Given the description of an element on the screen output the (x, y) to click on. 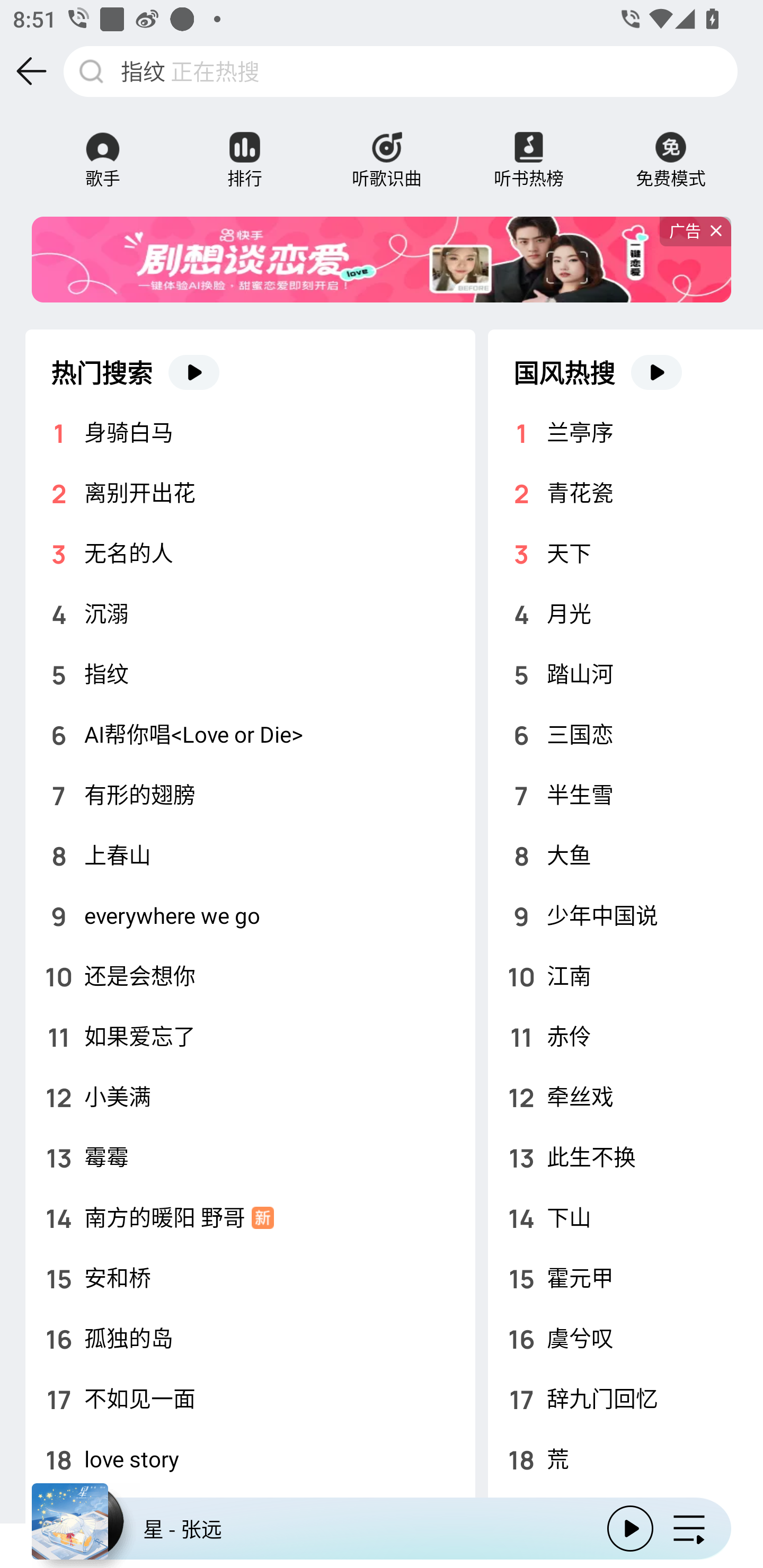
返回 (31, 71)
指纹 正在热搜 搜索音乐、视频、歌单、歌手、用户 (400, 71)
歌手 (102, 147)
排行 (244, 147)
听歌识曲 (386, 147)
听书热榜 (528, 147)
免费模式 (664, 147)
广告 (381, 259)
广告 关闭 (694, 231)
1 身骑白马 (250, 432)
1 兰亭序 (625, 432)
2 离别开出花 (250, 492)
2 青花瓷 (625, 492)
3 无名的人 (250, 553)
3 天下 (625, 553)
4 沉溺 (250, 613)
4 月光 (625, 613)
5 指纹 (250, 674)
5 踏山河 (625, 674)
6 AI帮你唱<Love or Die> (250, 734)
6 三国恋 (625, 734)
7 有形的翅膀 (250, 794)
7 半生雪 (625, 794)
8 上春山 (250, 854)
8 大鱼 (625, 854)
9 everywhere we go (250, 915)
9 少年中国说 (625, 915)
10 还是会想你 (250, 975)
10 江南 (625, 975)
11 如果爱忘了 (250, 1036)
11 赤伶 (625, 1036)
12 小美满 (250, 1096)
12 牵丝戏 (625, 1096)
13 霉霉 (250, 1156)
13 此生不换 (625, 1156)
14 南方的暖阳 野哥 (250, 1217)
14 下山 (625, 1217)
15 安和桥 (250, 1277)
15 霍元甲 (625, 1277)
16 孤独的岛 (250, 1337)
16 虞兮叹 (625, 1337)
17 不如见一面 (250, 1398)
17 辞九门回忆 (625, 1398)
18 love story (250, 1458)
18 荒 (625, 1458)
星 - 张远 (311, 1528)
播放 (630, 1528)
歌曲队列 (688, 1528)
